Given the description of an element on the screen output the (x, y) to click on. 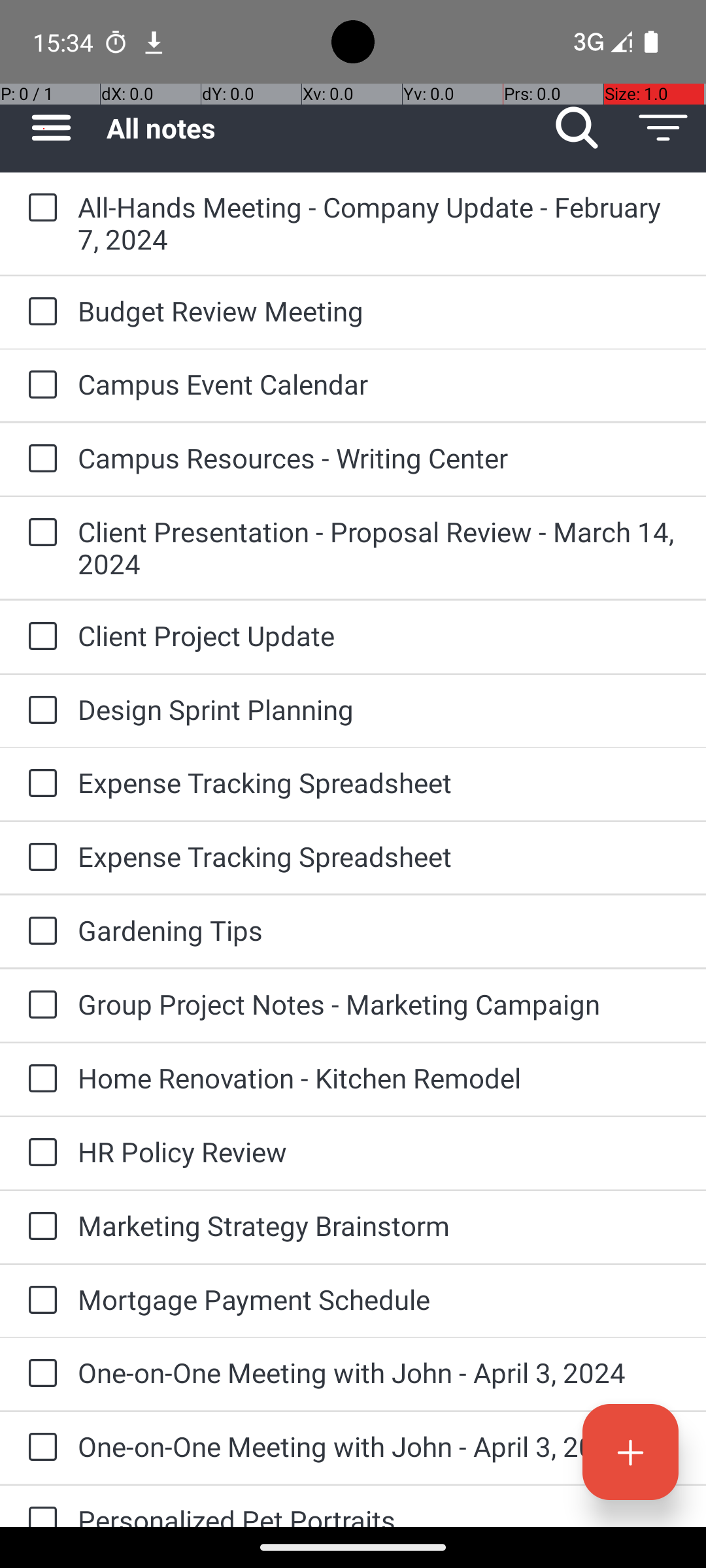
to-do: Campus Resources - Writing Center Element type: android.widget.CheckBox (38, 459)
Campus Resources - Writing Center Element type: android.widget.TextView (378, 457)
to-do: Client Presentation - Proposal Review - March 14, 2024 Element type: android.widget.CheckBox (38, 533)
Client Presentation - Proposal Review - March 14, 2024 Element type: android.widget.TextView (378, 547)
to-do: Home Renovation - Kitchen Remodel Element type: android.widget.CheckBox (38, 1079)
Home Renovation - Kitchen Remodel Element type: android.widget.TextView (378, 1077)
to-do: Marketing Strategy Brainstorm Element type: android.widget.CheckBox (38, 1226)
Marketing Strategy Brainstorm Element type: android.widget.TextView (378, 1224)
to-do: Personalized Pet Portraits Element type: android.widget.CheckBox (38, 1505)
Personalized Pet Portraits Element type: android.widget.TextView (378, 1513)
